Given the description of an element on the screen output the (x, y) to click on. 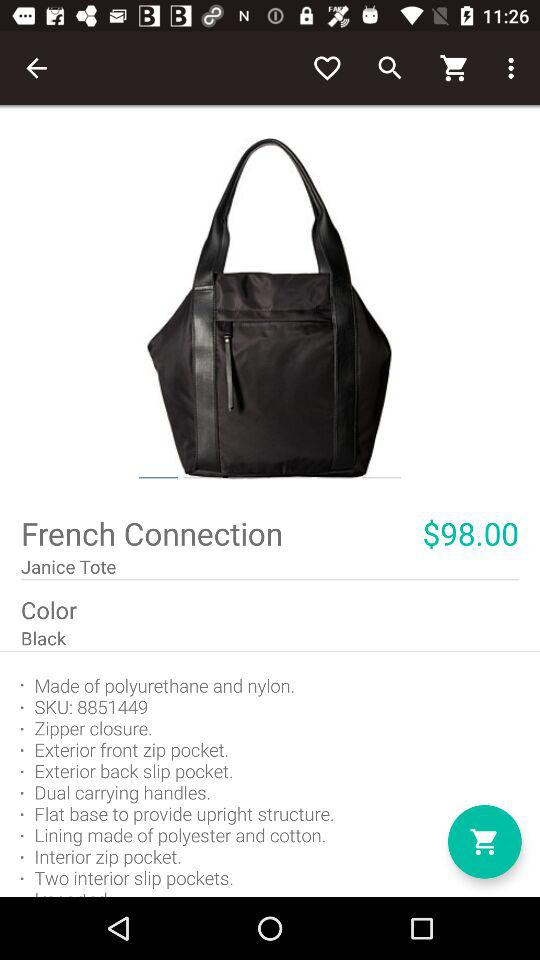
scroll until made of polyurethane (270, 774)
